Given the description of an element on the screen output the (x, y) to click on. 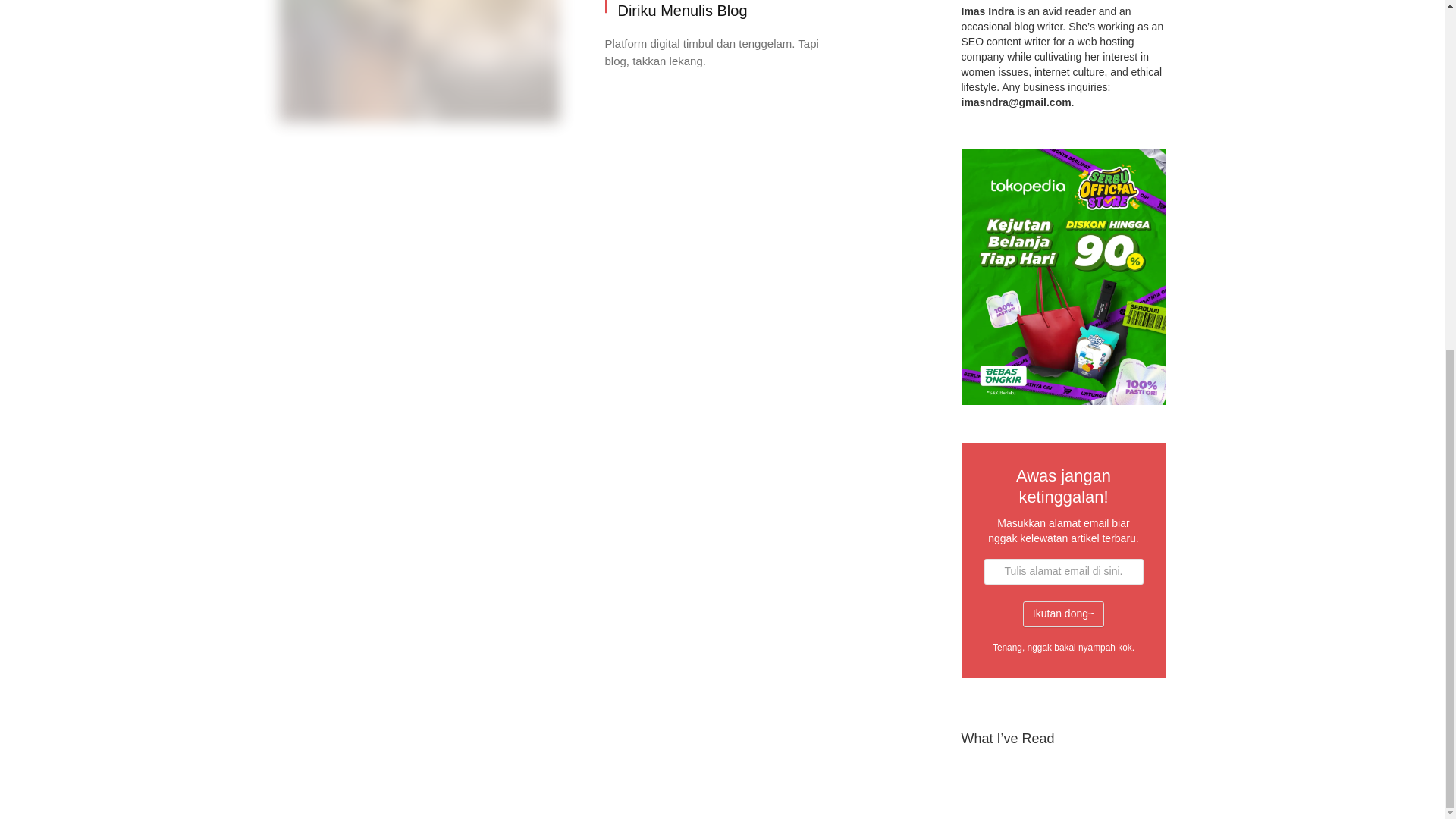
Semua untuk Mengembangkan Diri, Alasan Diriku Menulis Blog (770, 11)
